Given the description of an element on the screen output the (x, y) to click on. 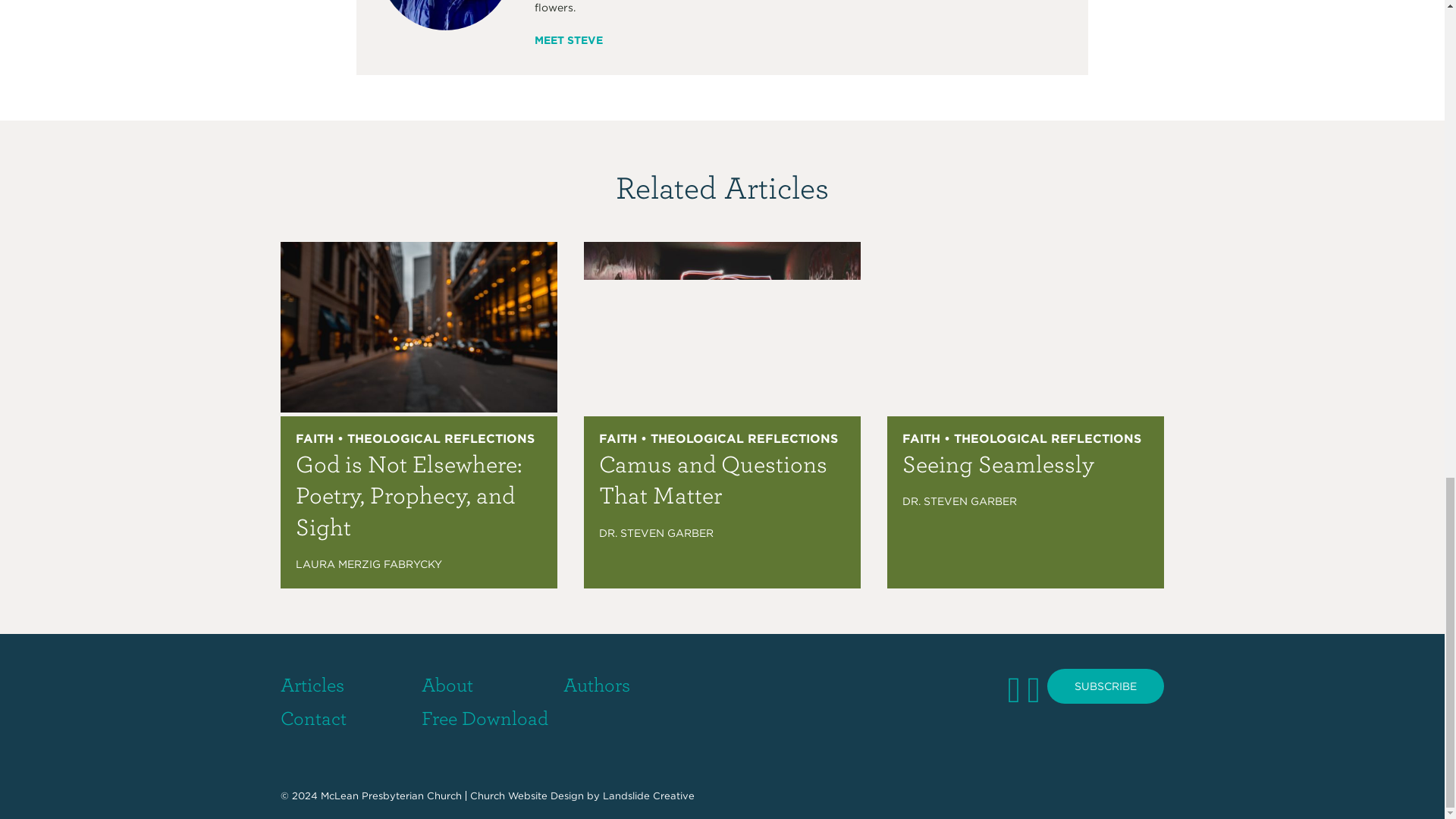
MEET STEVE (568, 39)
Contact (313, 716)
SUBSCRIBE (1104, 686)
Free Download (485, 716)
McLean Presbyterian Church (390, 795)
About (447, 683)
Authors (596, 683)
Church Website Design (526, 795)
Articles (312, 683)
